Given the description of an element on the screen output the (x, y) to click on. 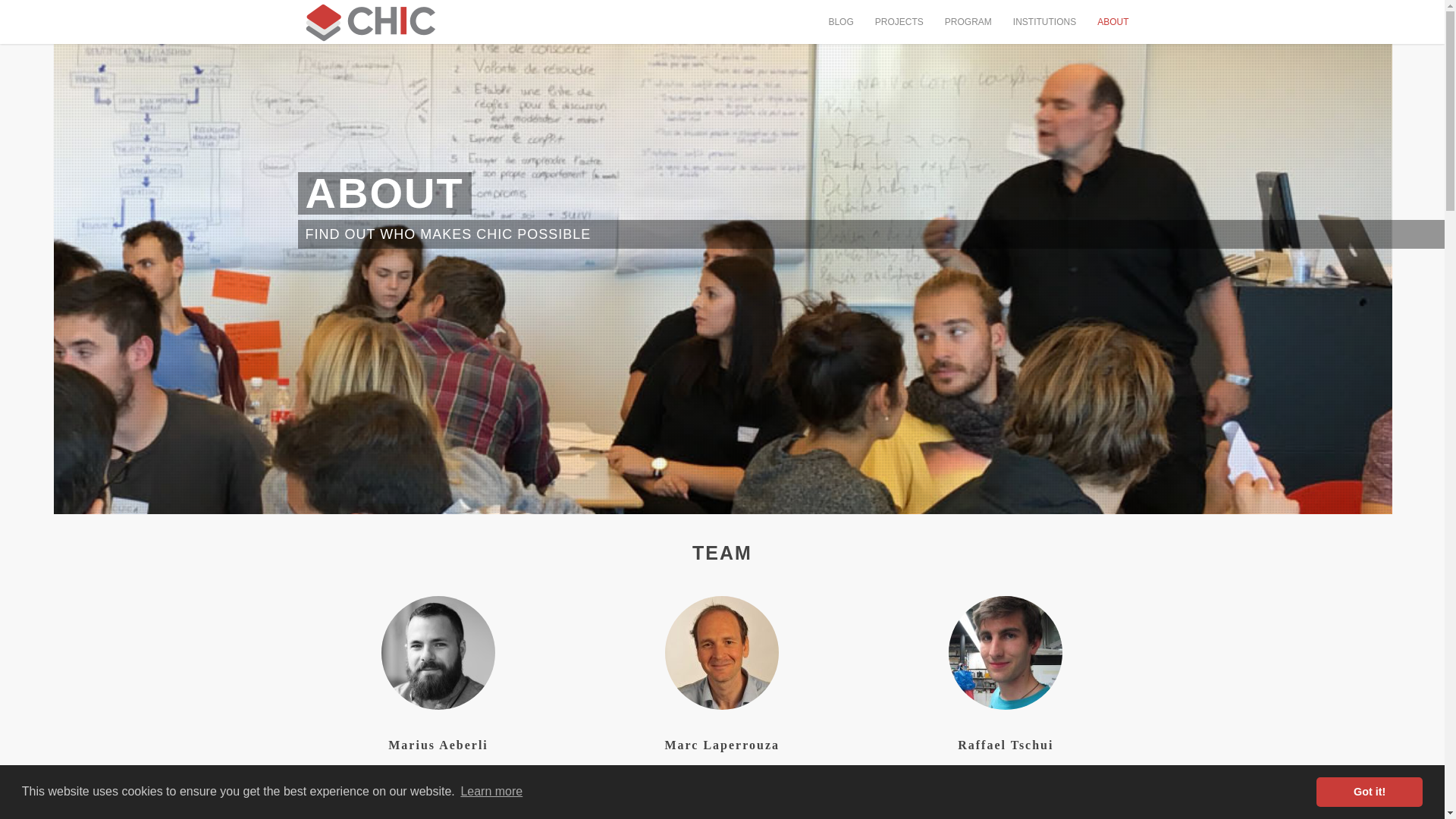
Got it! (1369, 791)
PROJECTS (898, 24)
BLOG (840, 24)
PROGRAM (967, 24)
INSTITUTIONS (1044, 24)
Learn more (491, 791)
ABOUT (1112, 24)
